Given the description of an element on the screen output the (x, y) to click on. 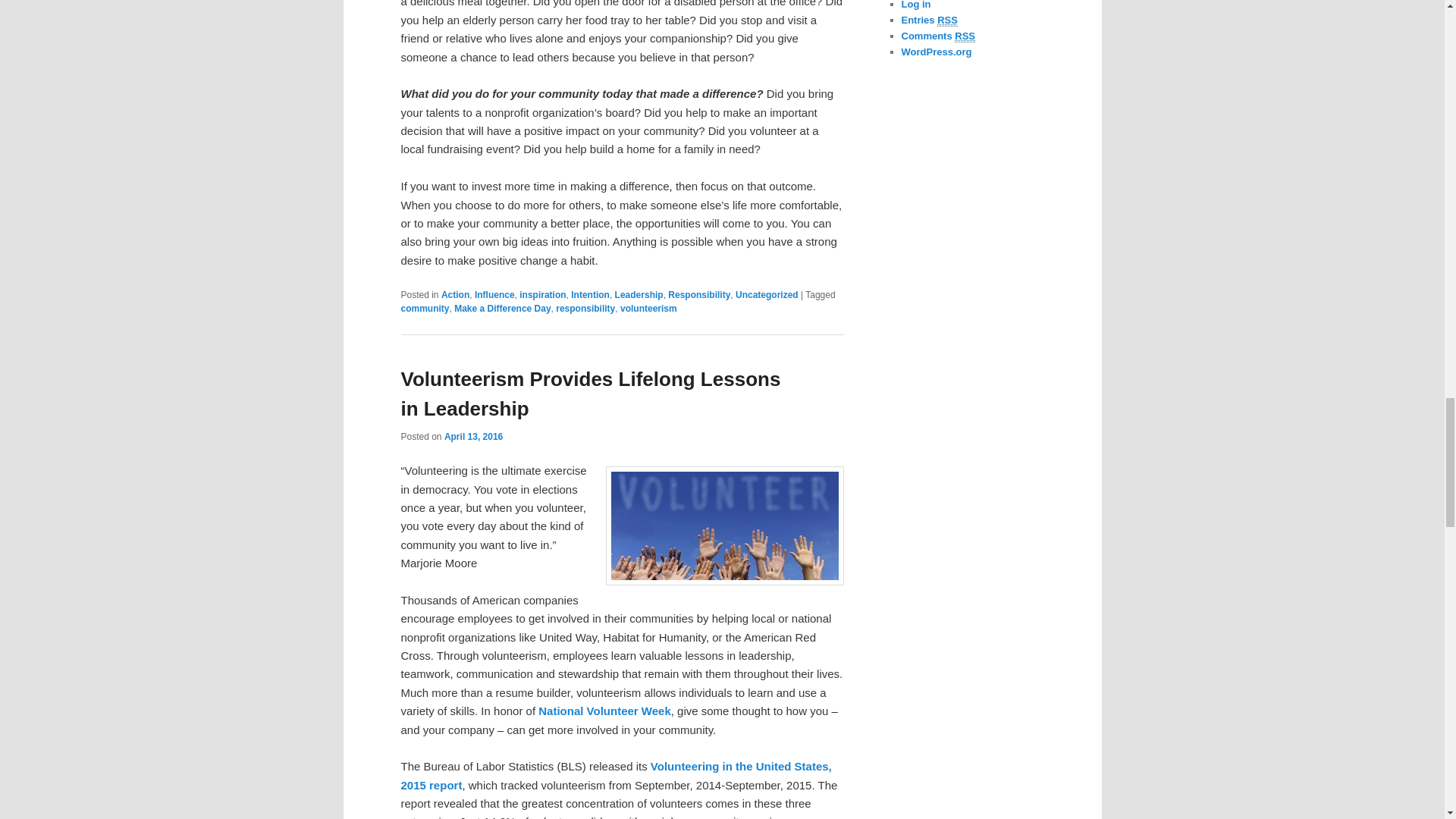
Action (454, 294)
Uncategorized (766, 294)
Responsibility (699, 294)
Make a Difference Day (502, 308)
community (424, 308)
Influence (494, 294)
inspiration (542, 294)
Leadership (638, 294)
Intention (590, 294)
